Given the description of an element on the screen output the (x, y) to click on. 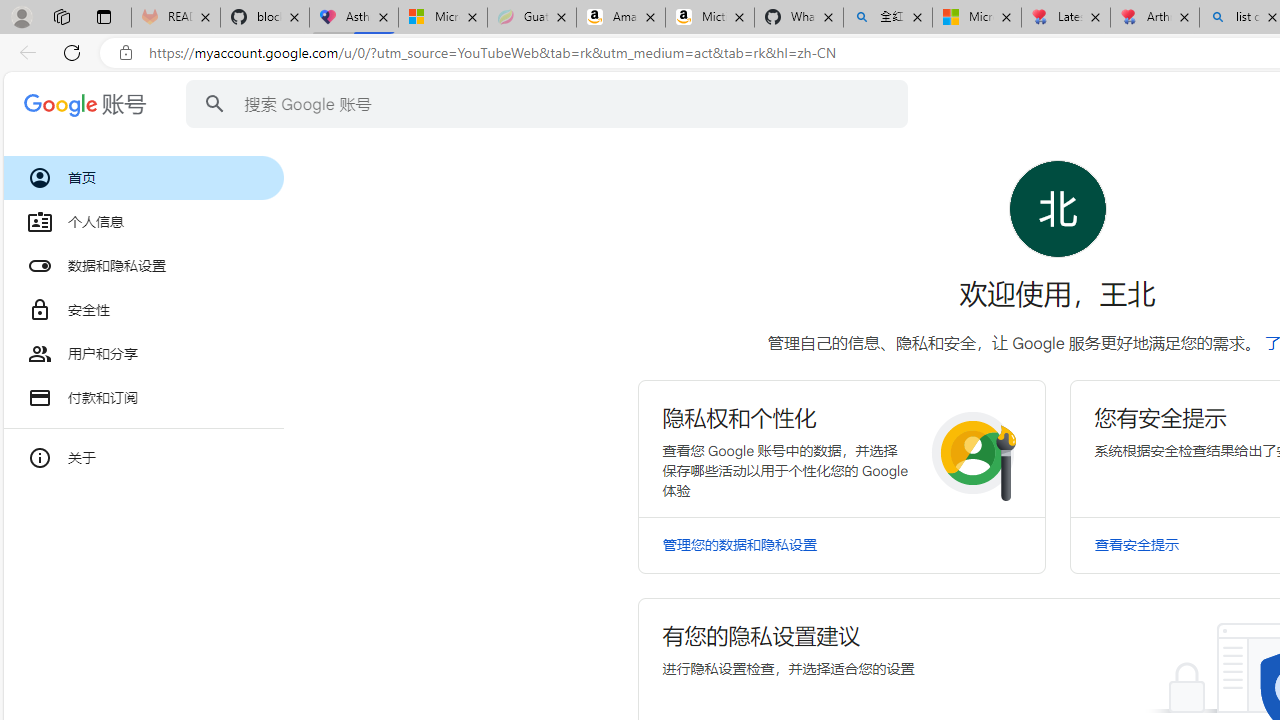
Class: RlFDUe N5YmOc kJXJmd bvW4md I6g62c (840, 448)
